Given the description of an element on the screen output the (x, y) to click on. 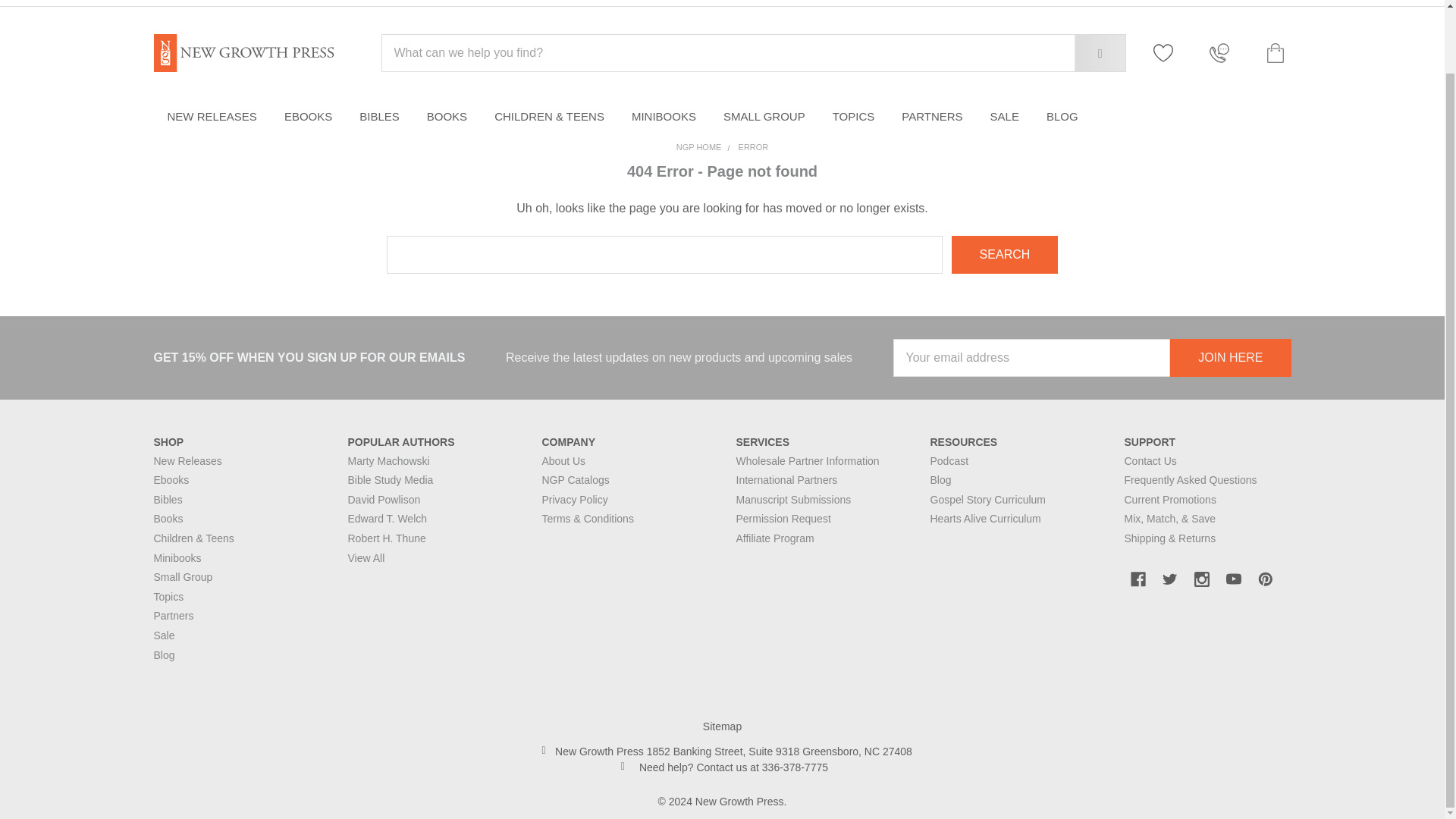
Wish Lists (1170, 52)
Twitter (1169, 578)
Cart (1272, 52)
Search (1088, 53)
Instagram (1201, 578)
Pinterest (1264, 578)
NEW RELEASES (210, 117)
Join Here (1230, 357)
Facebook (1137, 578)
